Given the description of an element on the screen output the (x, y) to click on. 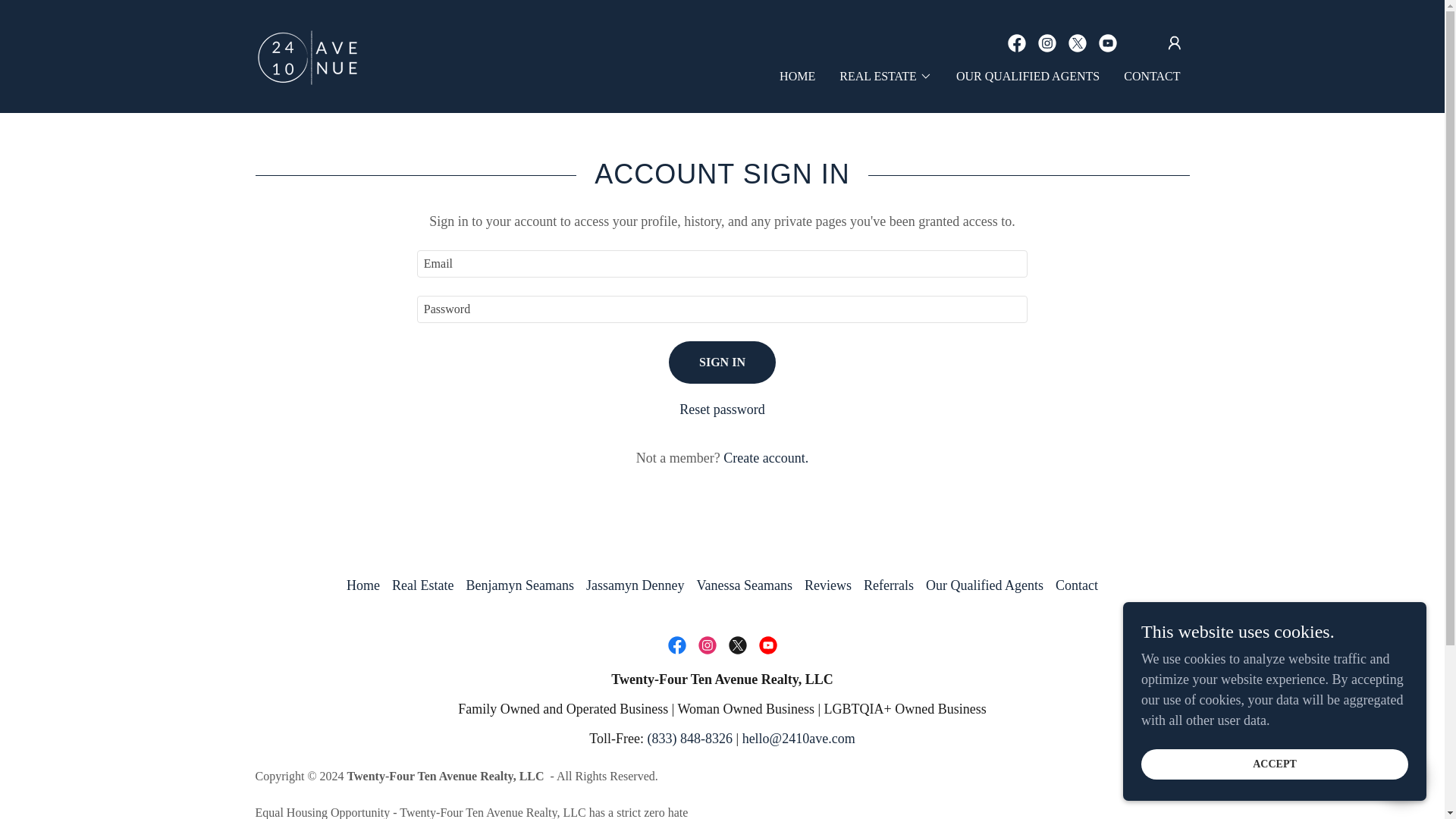
Benjamyn James (306, 55)
OUR QUALIFIED AGENTS (1027, 75)
CONTACT (1152, 75)
REAL ESTATE (885, 75)
HOME (796, 75)
